Given the description of an element on the screen output the (x, y) to click on. 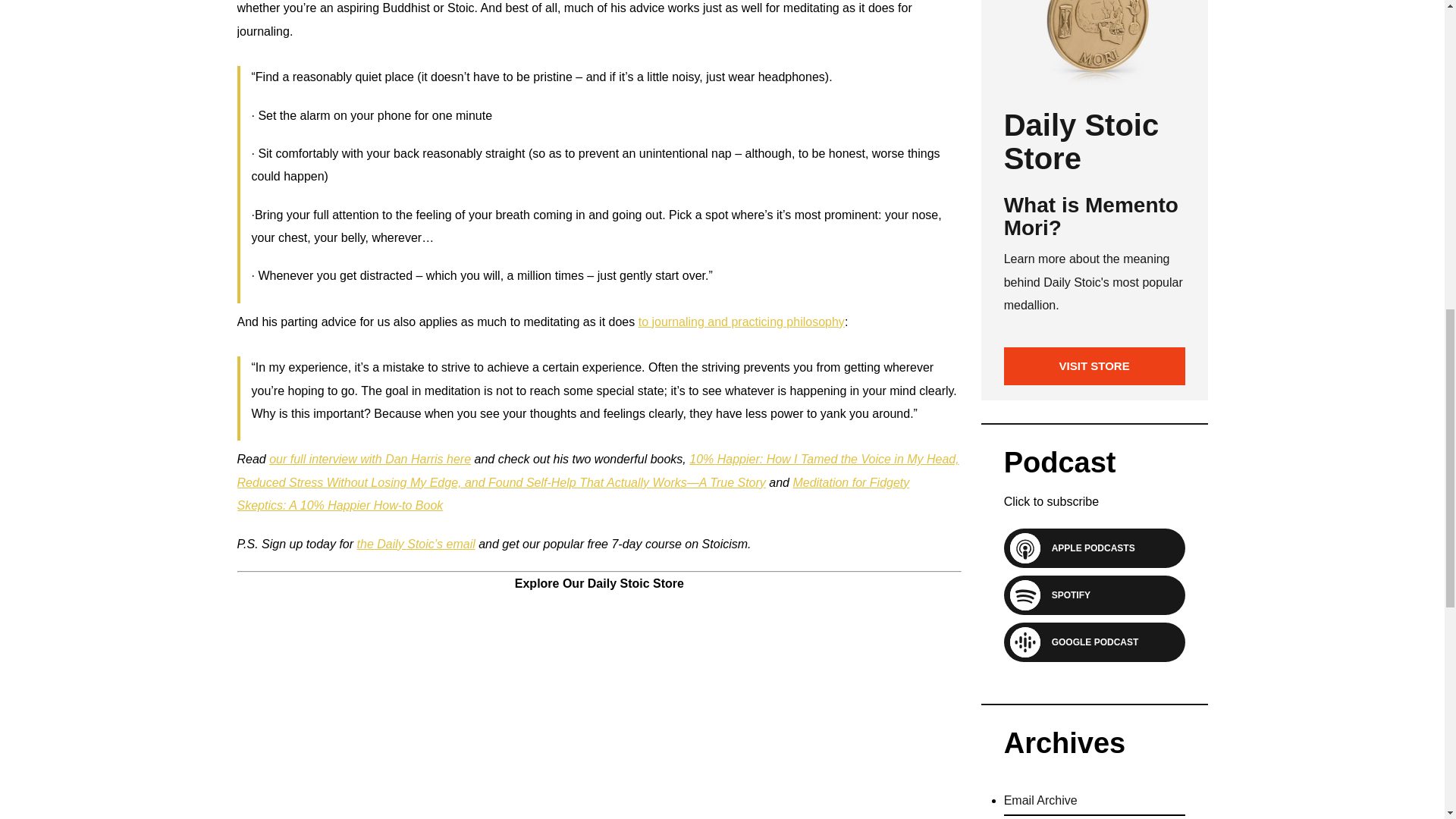
GOOGLE PODCAST (1089, 642)
our full interview with Dan Harris here (369, 459)
APPLE PODCASTS (1088, 548)
SPOTIFY (1065, 595)
VISIT STORE (1094, 365)
to journaling and practicing philosophy (741, 321)
Email Archive (1040, 806)
